Given the description of an element on the screen output the (x, y) to click on. 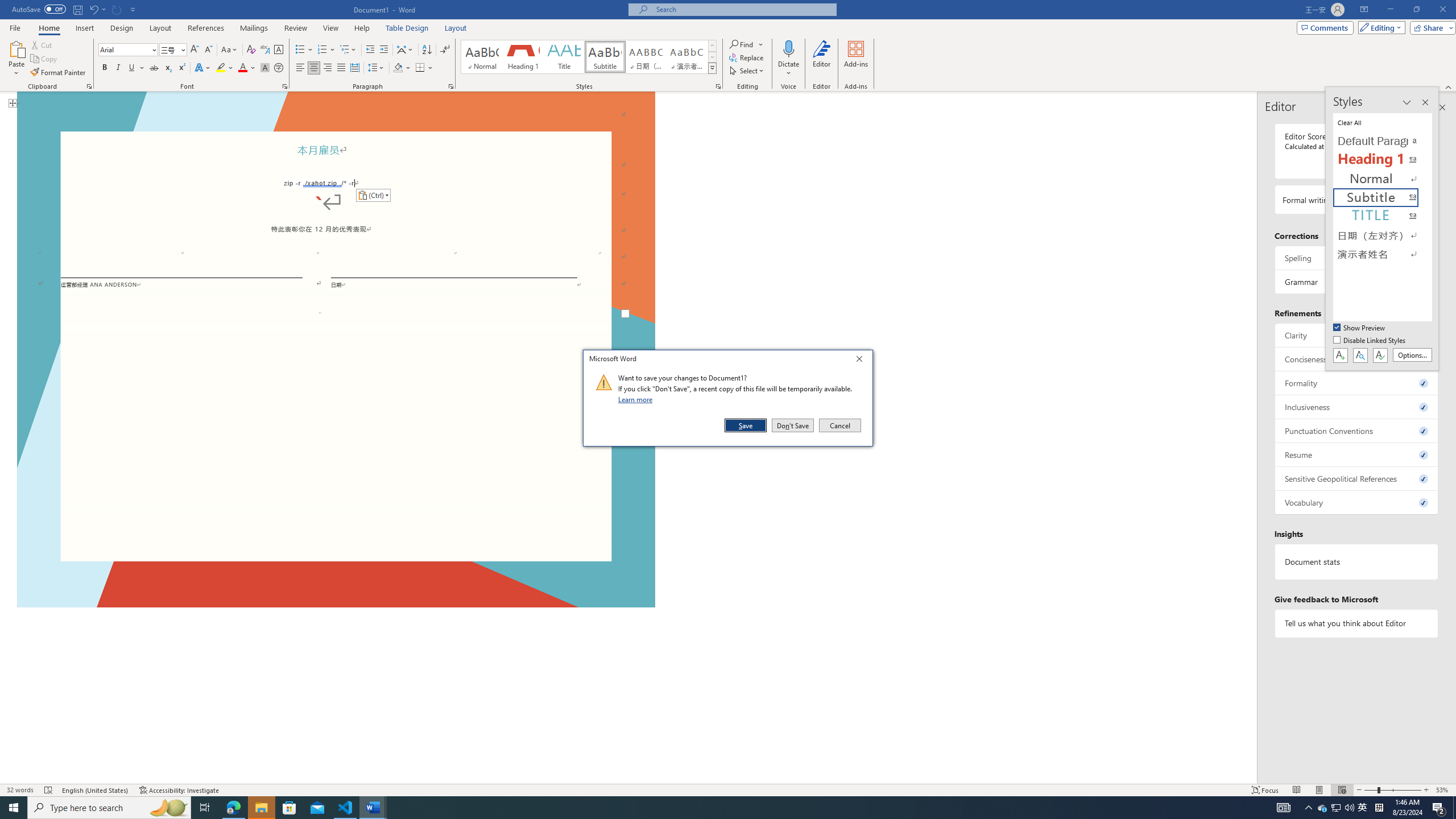
Normal (1382, 178)
Undo Paste (92, 9)
